Given the description of an element on the screen output the (x, y) to click on. 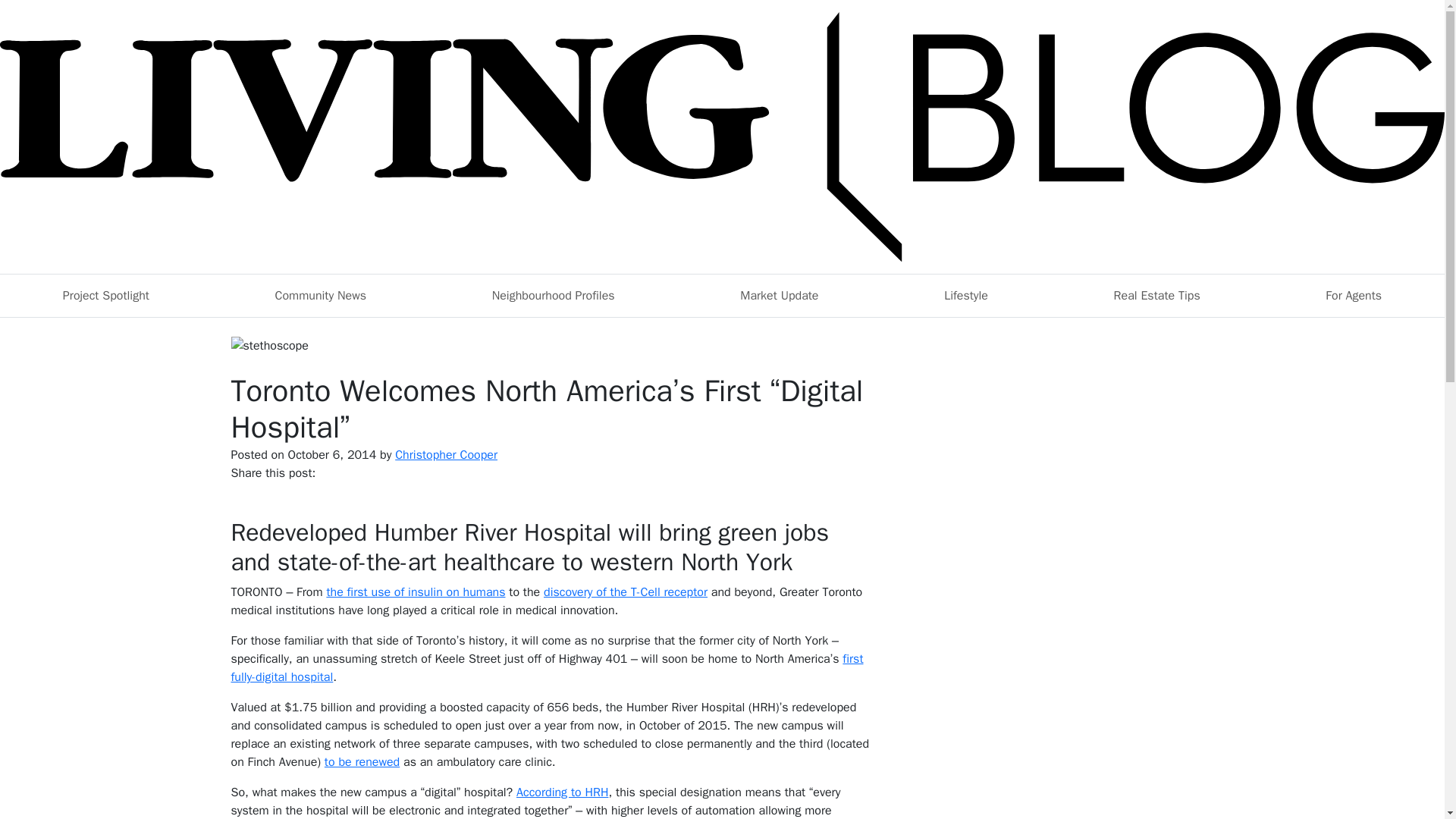
According to HRH (562, 792)
Real Estate Tips (1157, 295)
to be renewed (361, 761)
Neighbourhood Profiles (553, 295)
first fully-digital hospital (546, 667)
Project Spotlight (106, 295)
Lifestyle (964, 295)
Community News (320, 295)
Christopher Cooper (445, 454)
Market Update (778, 295)
